Given the description of an element on the screen output the (x, y) to click on. 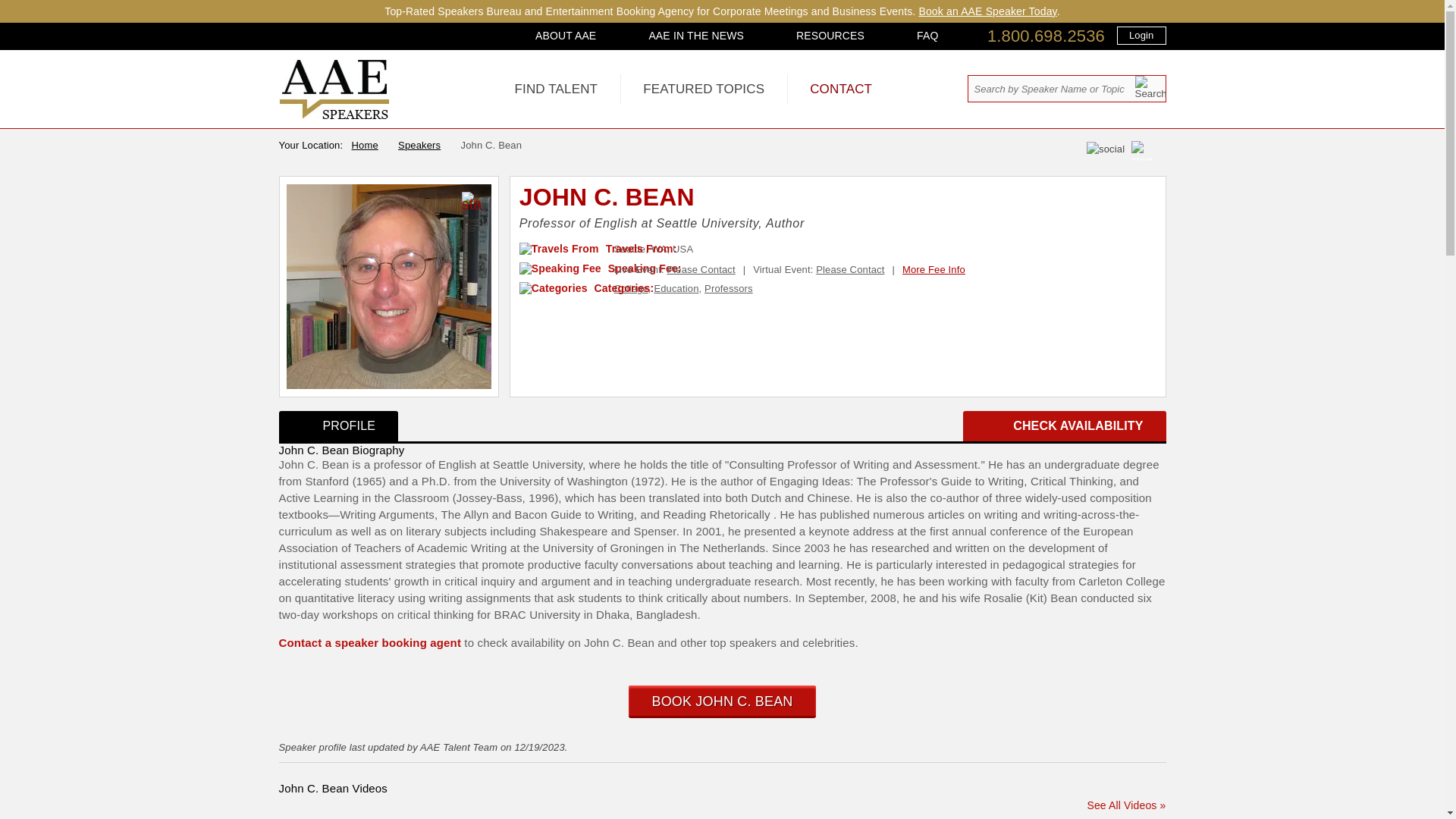
Login (1141, 35)
All American Speakers Bureau and Celebrity Booking Agency (334, 115)
RESOURCES (829, 34)
Book an AAE Speaker Today (987, 10)
FAQ (927, 34)
AAE IN THE NEWS (695, 34)
Search (1150, 87)
1.800.698.2536 (1046, 35)
ABOUT AAE (565, 34)
